Given the description of an element on the screen output the (x, y) to click on. 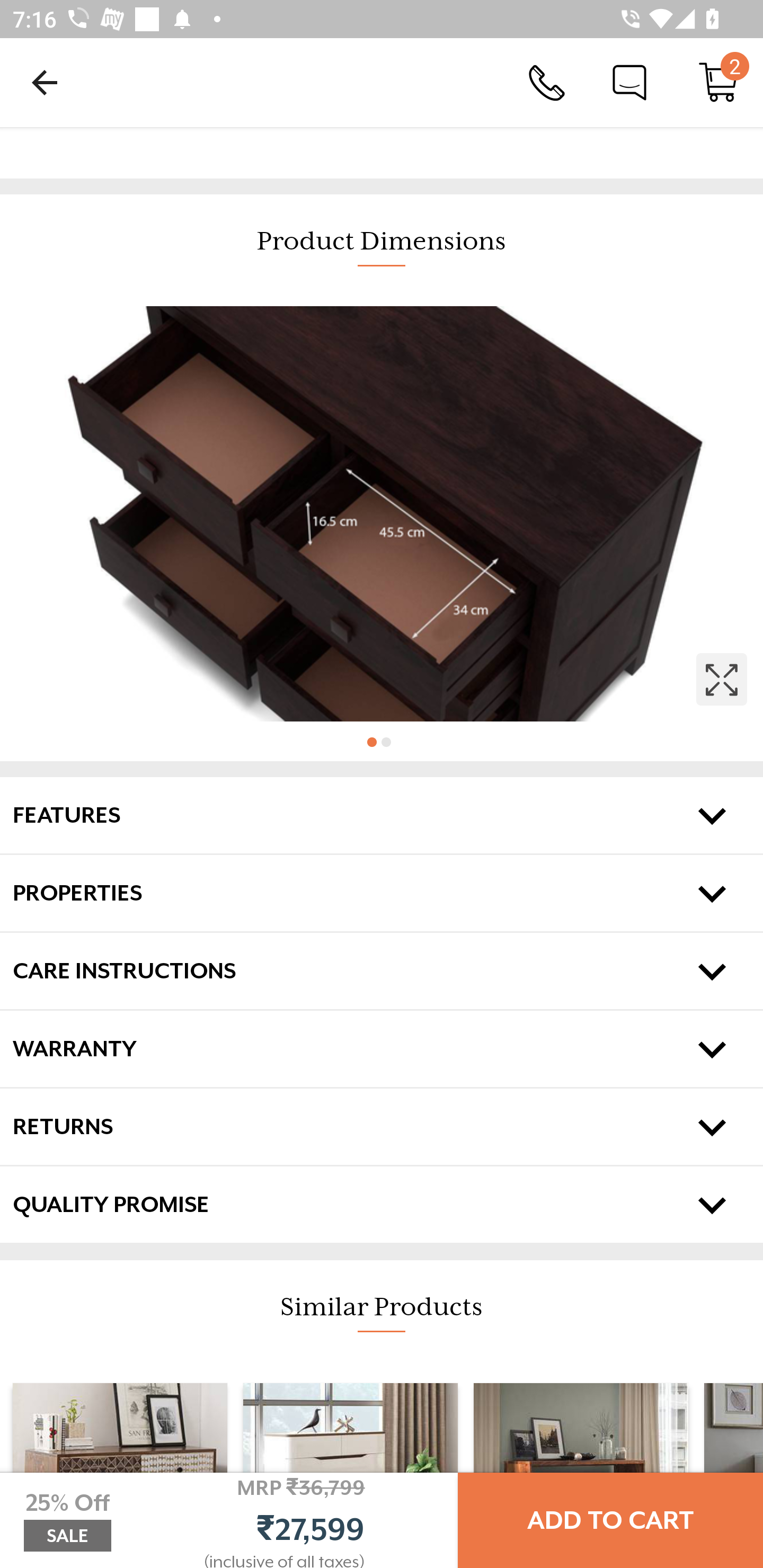
Navigate up (44, 82)
Call Us (546, 81)
Chat (629, 81)
Cart (718, 81)
 (381, 513)
FEATURES  (381, 814)
PROPERTIES  (381, 892)
CARE INSTRUCTIONS  (381, 970)
WARRANTY  (381, 1048)
RETURNS  (381, 1126)
QUALITY PROMISE  (381, 1204)
ADD TO CART (610, 1520)
